Given the description of an element on the screen output the (x, y) to click on. 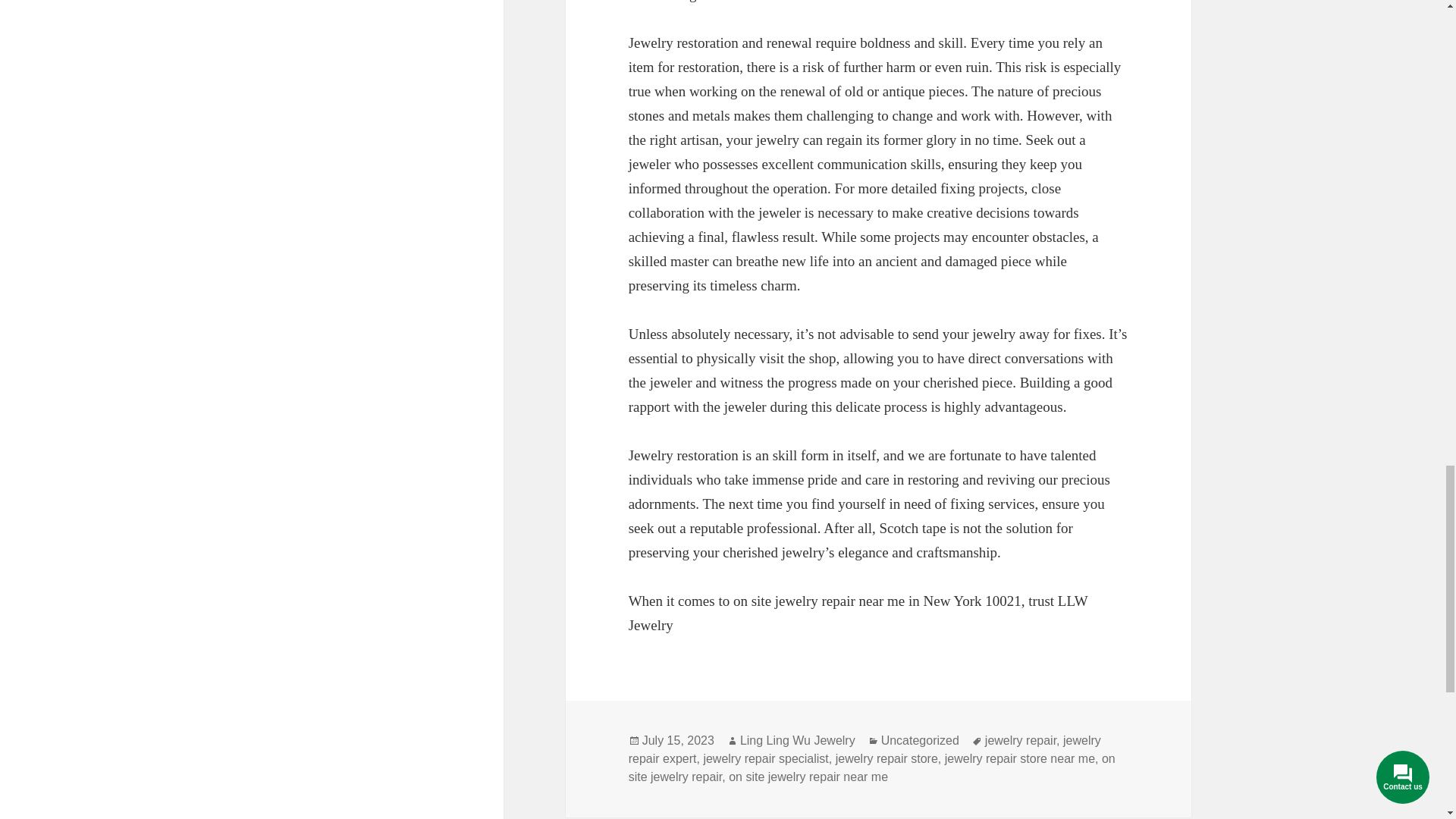
jewelry repair store (886, 758)
jewelry repair expert (864, 749)
jewelry repair (1021, 740)
jewelry repair store near me (1019, 758)
jewelry repair specialist (765, 758)
on site jewelry repair (871, 767)
July 15, 2023 (678, 740)
on site jewelry repair near me (808, 776)
Ling Ling Wu Jewelry (797, 740)
